Given the description of an element on the screen output the (x, y) to click on. 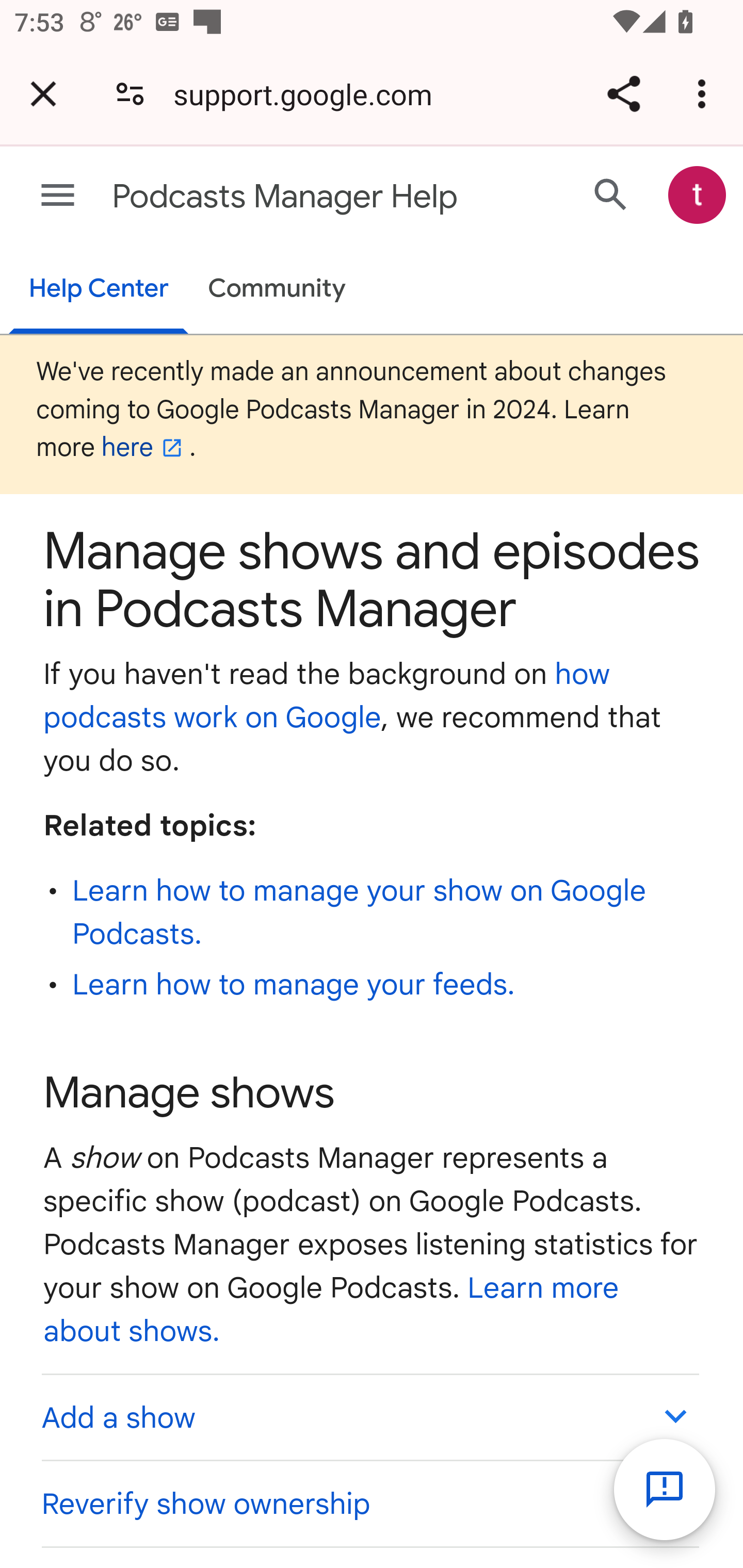
Close tab (43, 93)
Share (623, 93)
Customize and control Google Chrome (705, 93)
Connection is secure (129, 93)
support.google.com (310, 93)
Main menu (58, 195)
Podcasts Manager Help (292, 197)
Search Help Center (611, 194)
Help Center (98, 289)
Community (276, 289)
here (145, 447)
how podcasts work on Google (326, 695)
Learn how to manage your show on Google Podcasts. (359, 912)
Learn how to manage your feeds. (294, 984)
Learn more about shows. (330, 1309)
Add a show (369, 1417)
Reverify show ownership (369, 1503)
